Given the description of an element on the screen output the (x, y) to click on. 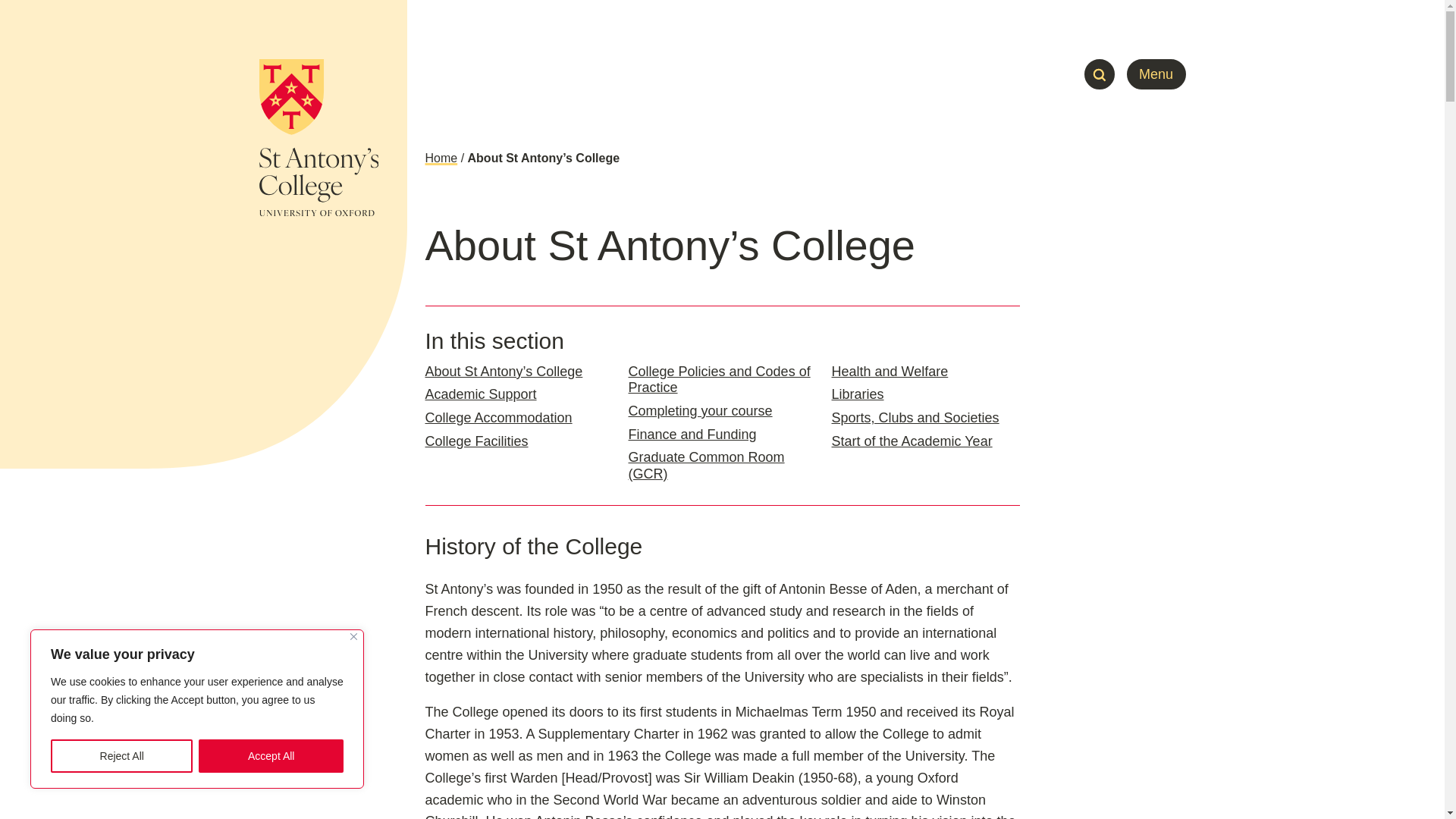
Accept All (270, 756)
Reject All (121, 756)
